Given the description of an element on the screen output the (x, y) to click on. 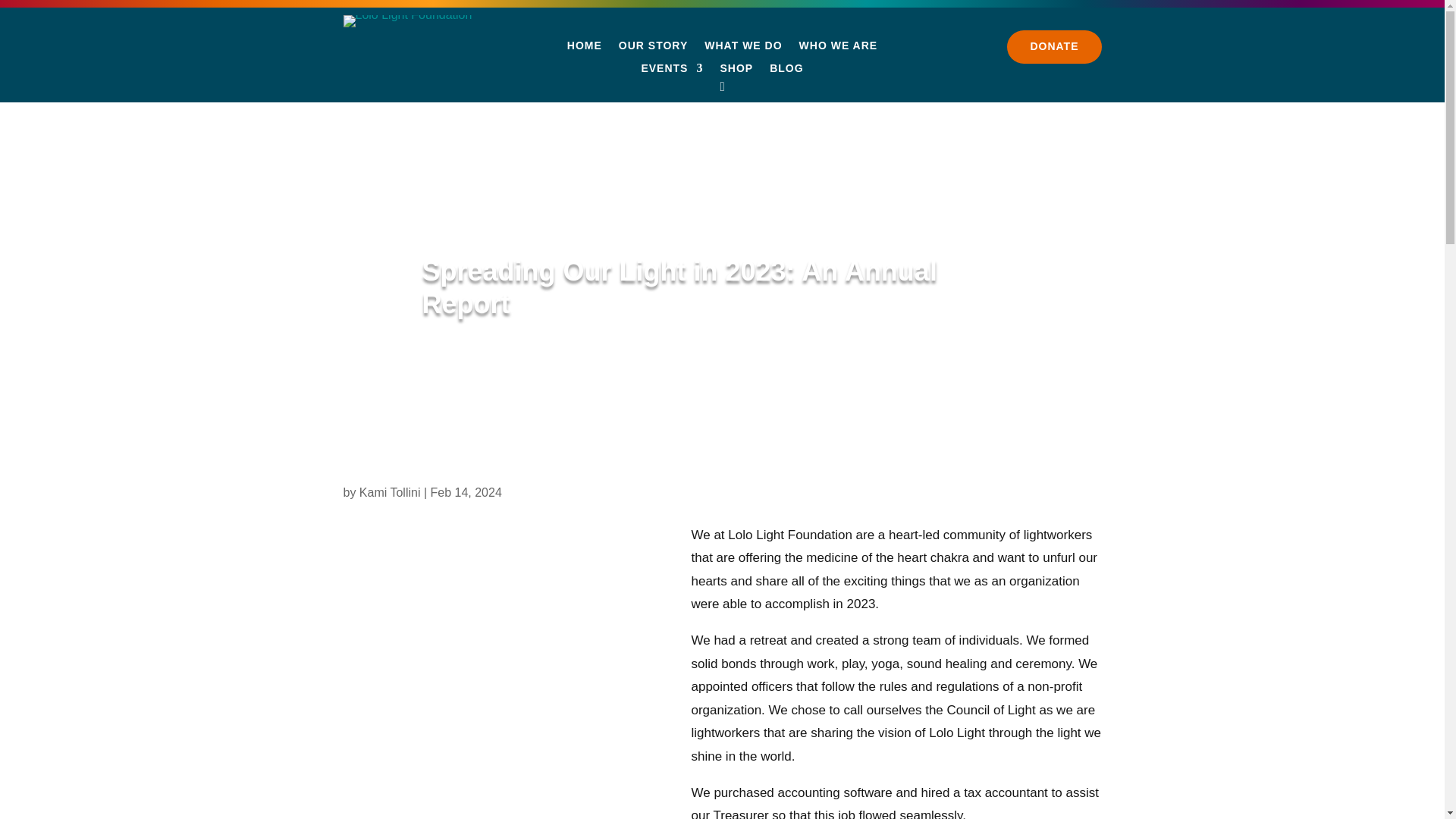
OUR STORY (652, 48)
Posts by Kami Tollini (389, 492)
WHAT WE DO (742, 48)
HOME (584, 48)
Kami Tollini (389, 492)
EVENTS (671, 71)
Lolo Light Foundation (406, 21)
BLOG (786, 71)
WHO WE ARE (838, 48)
SHOP (735, 71)
